Given the description of an element on the screen output the (x, y) to click on. 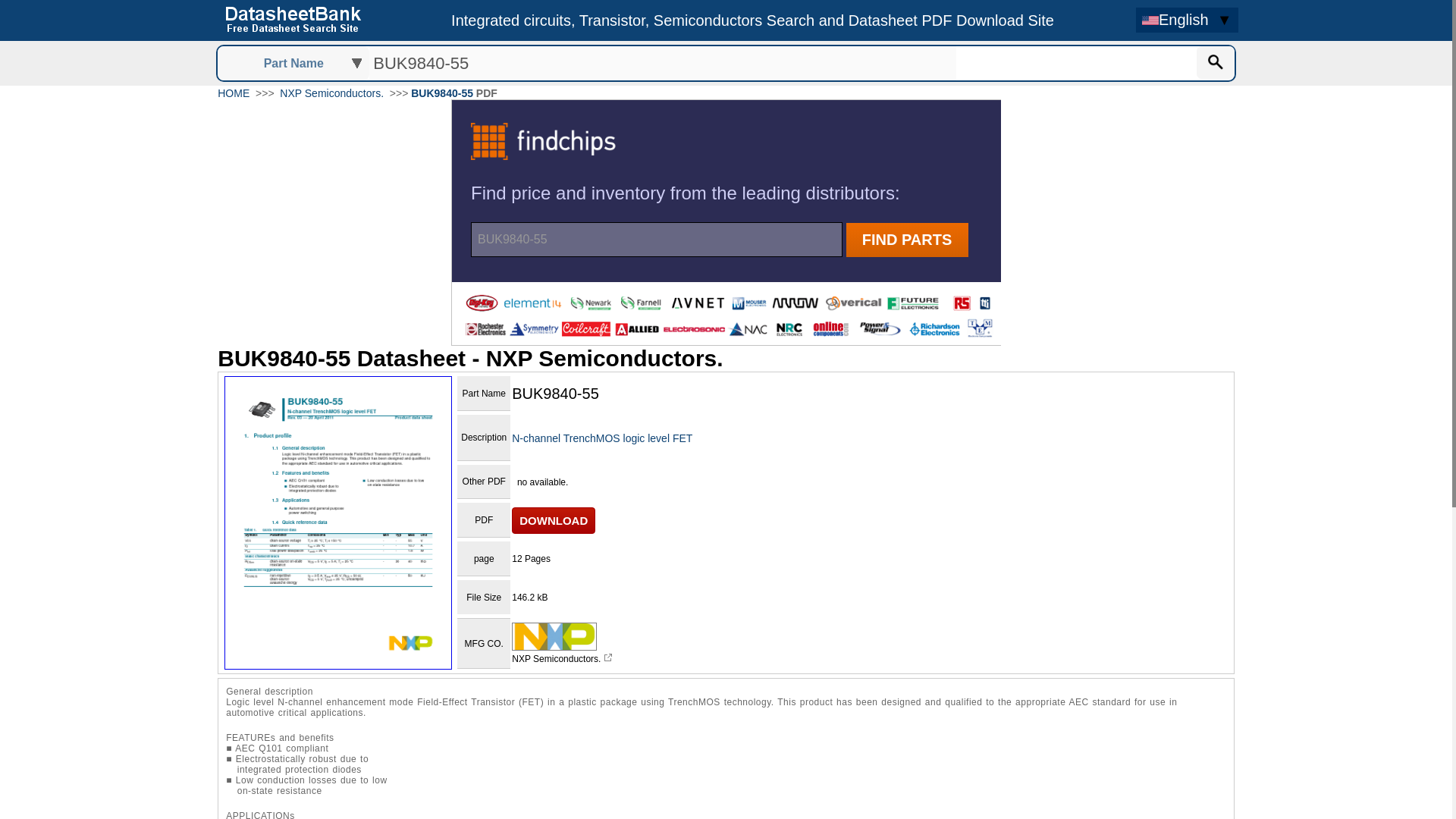
BUK9840-55 (662, 62)
N-channel TrenchMOS logic level FET (602, 438)
BUK9840-55 (662, 62)
DOWNLOAD (553, 519)
HOME (232, 92)
NXP Semiconductors. (331, 92)
Find Parts (1215, 61)
English (1176, 19)
BUK9840-55 (441, 92)
